Given the description of an element on the screen output the (x, y) to click on. 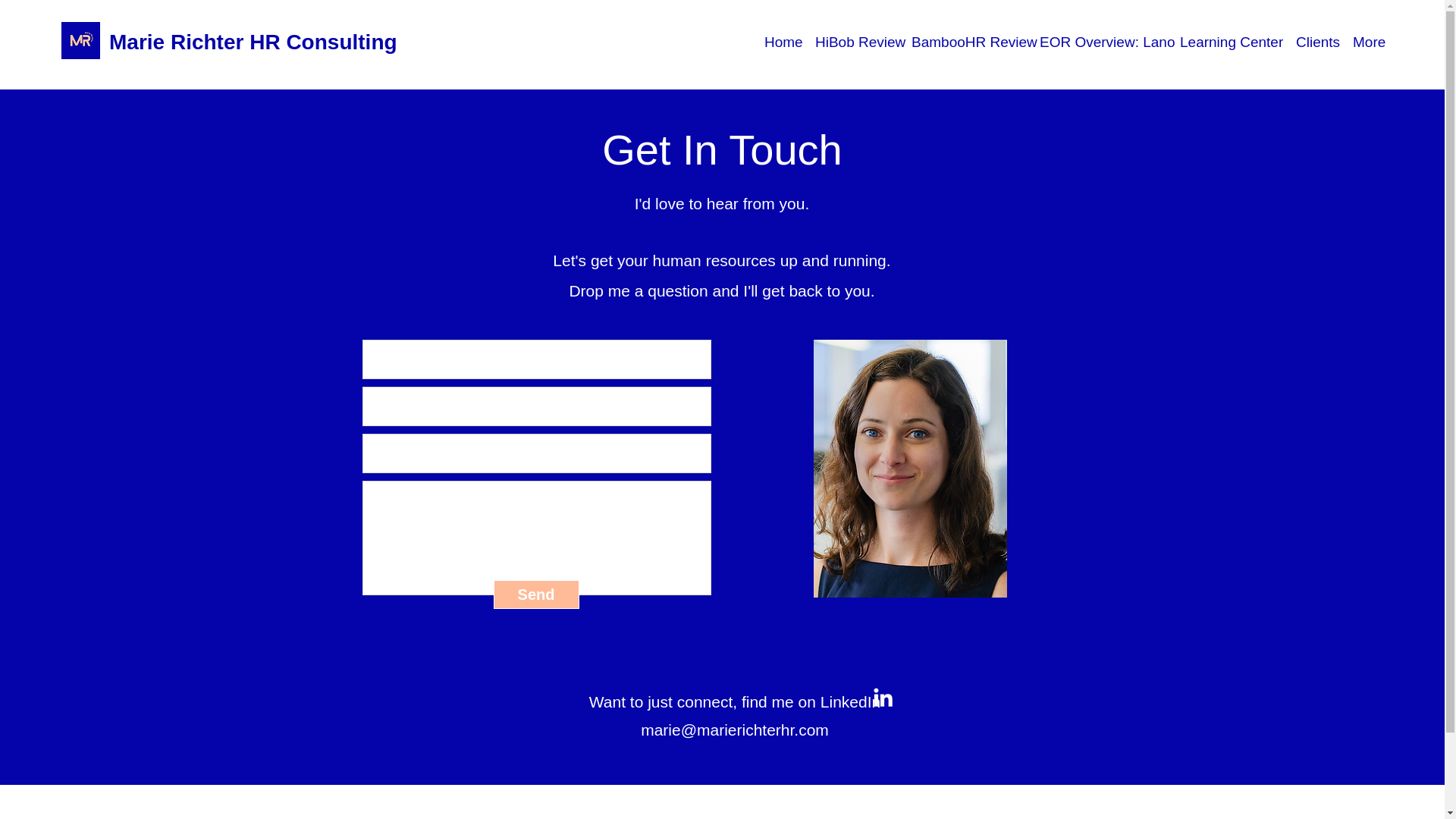
EOR Overview: Lano (1102, 42)
Home (782, 42)
Marie Richter HR Consulting (253, 42)
HiBob Review (856, 42)
Send (535, 594)
BambooHR Review (968, 42)
Clients (1316, 42)
Screenshot 2021-09-12 at 18.18.26.png (80, 40)
Learning Center (1230, 42)
